Given the description of an element on the screen output the (x, y) to click on. 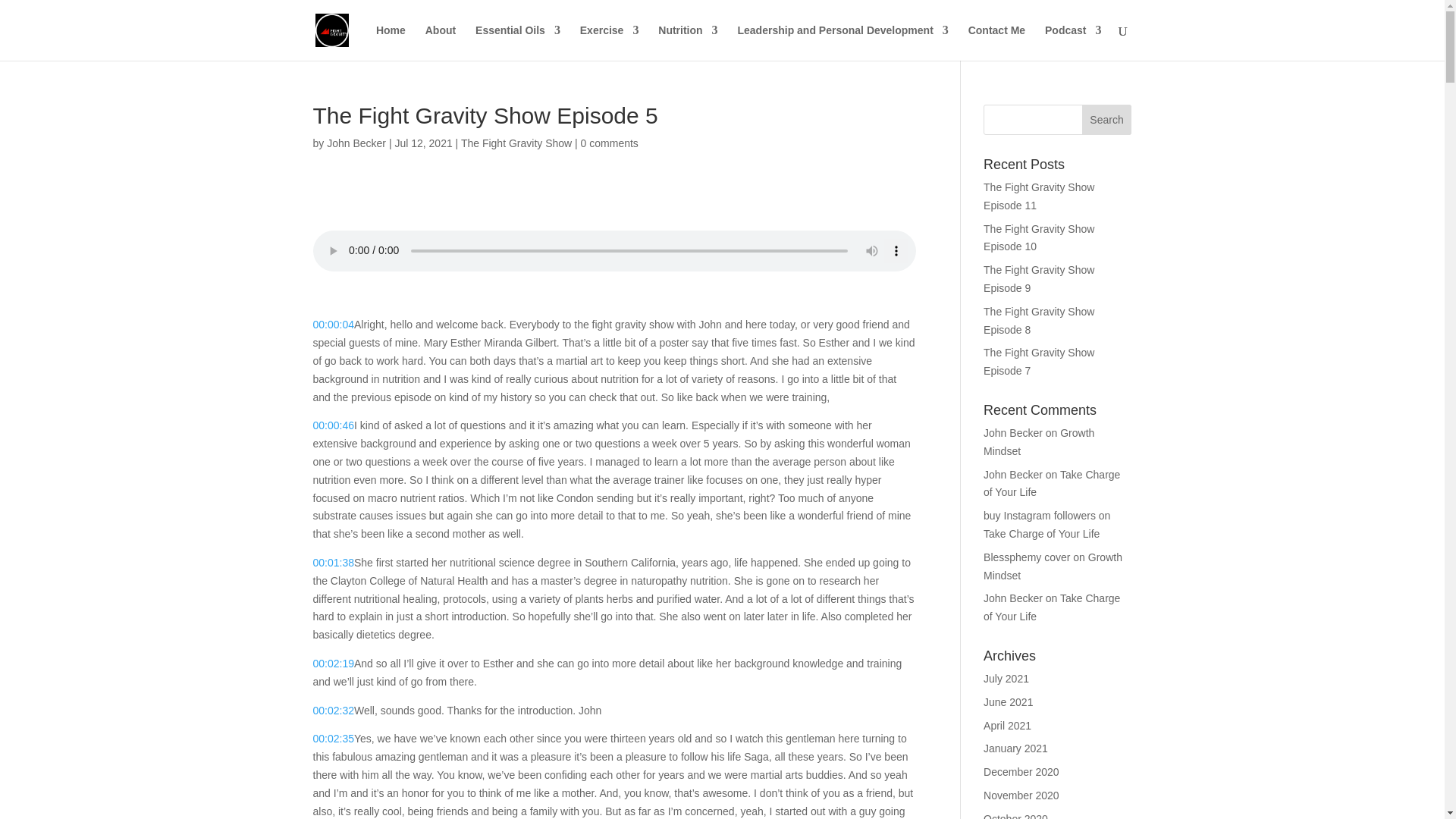
00:00:04 (333, 324)
Contact Me (996, 42)
00:02:19 (333, 663)
Nutrition (687, 42)
The Fight Gravity Show (516, 143)
Exercise (609, 42)
Essential Oils (518, 42)
John Becker (355, 143)
0 comments (609, 143)
Podcast (1072, 42)
